Given the description of an element on the screen output the (x, y) to click on. 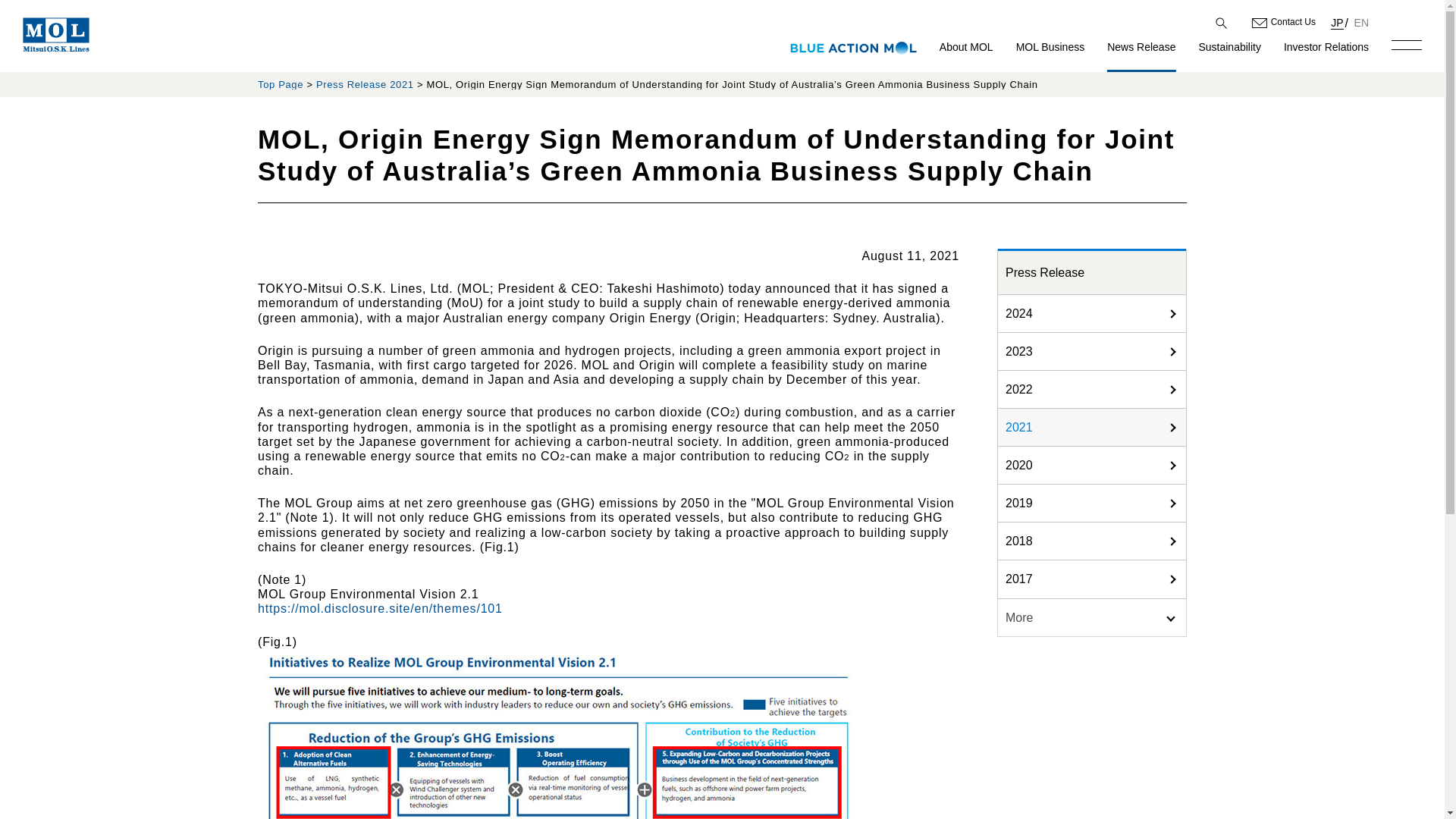
Sustainability (1229, 54)
About MOL (965, 54)
MOL Business (1050, 54)
News Release (1140, 54)
